Given the description of an element on the screen output the (x, y) to click on. 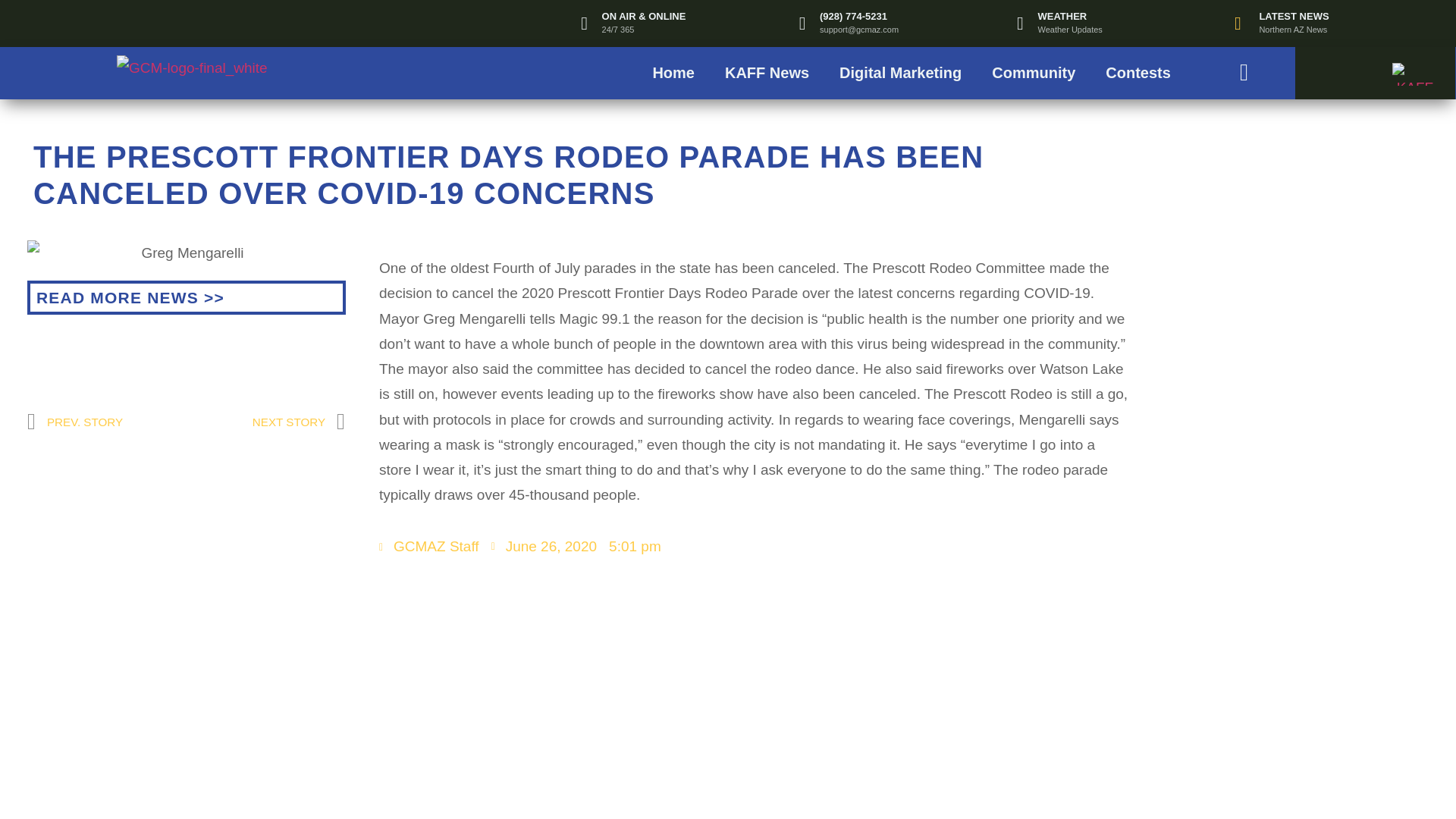
KAFF News (767, 72)
Community (1033, 72)
WEATHER (1061, 16)
Contests (1138, 72)
Greg Mengarelli (186, 252)
LATEST NEWS (1293, 16)
Digital Marketing (900, 72)
Home (673, 72)
